Given the description of an element on the screen output the (x, y) to click on. 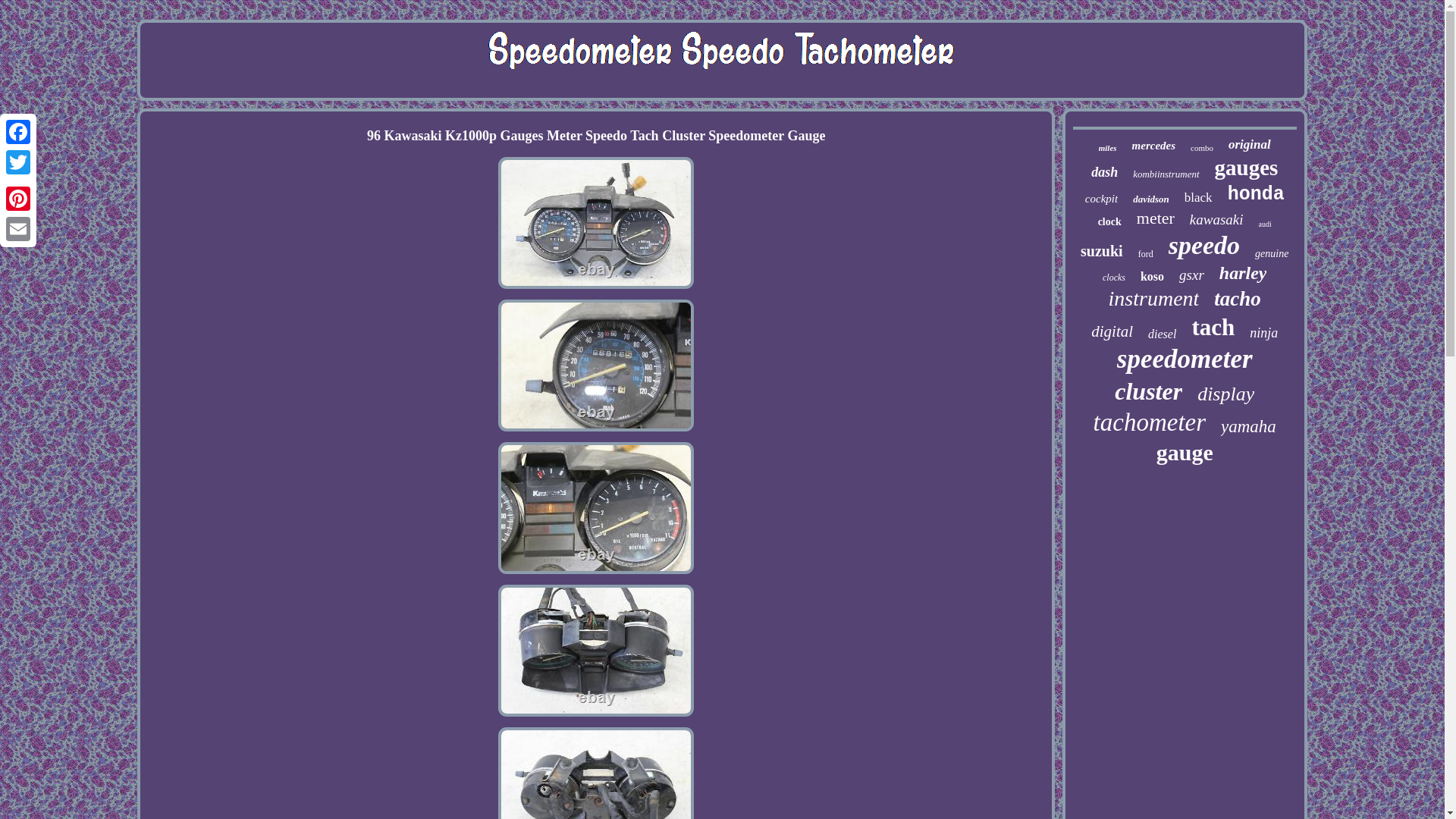
mercedes (1153, 145)
koso (1151, 276)
Email (17, 228)
digital (1111, 331)
Pinterest (17, 198)
audi (1265, 224)
genuine (1271, 254)
diesel (1162, 334)
black (1198, 197)
davidson (1150, 199)
clocks (1113, 277)
Facebook (17, 132)
honda (1255, 194)
